Given the description of an element on the screen output the (x, y) to click on. 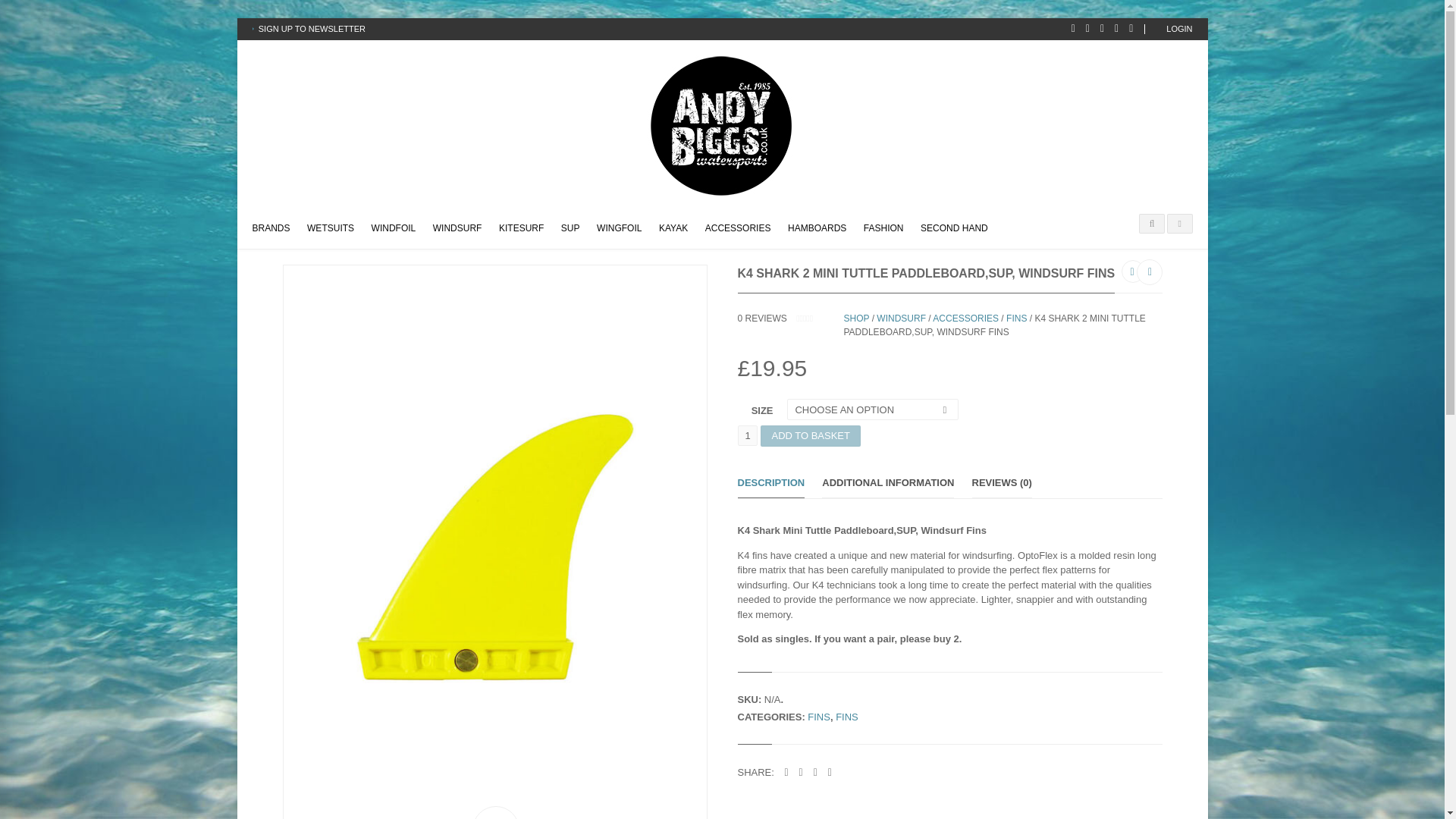
Rated 0 out of 5 (818, 317)
Web Store (270, 225)
1 (746, 435)
